Given the description of an element on the screen output the (x, y) to click on. 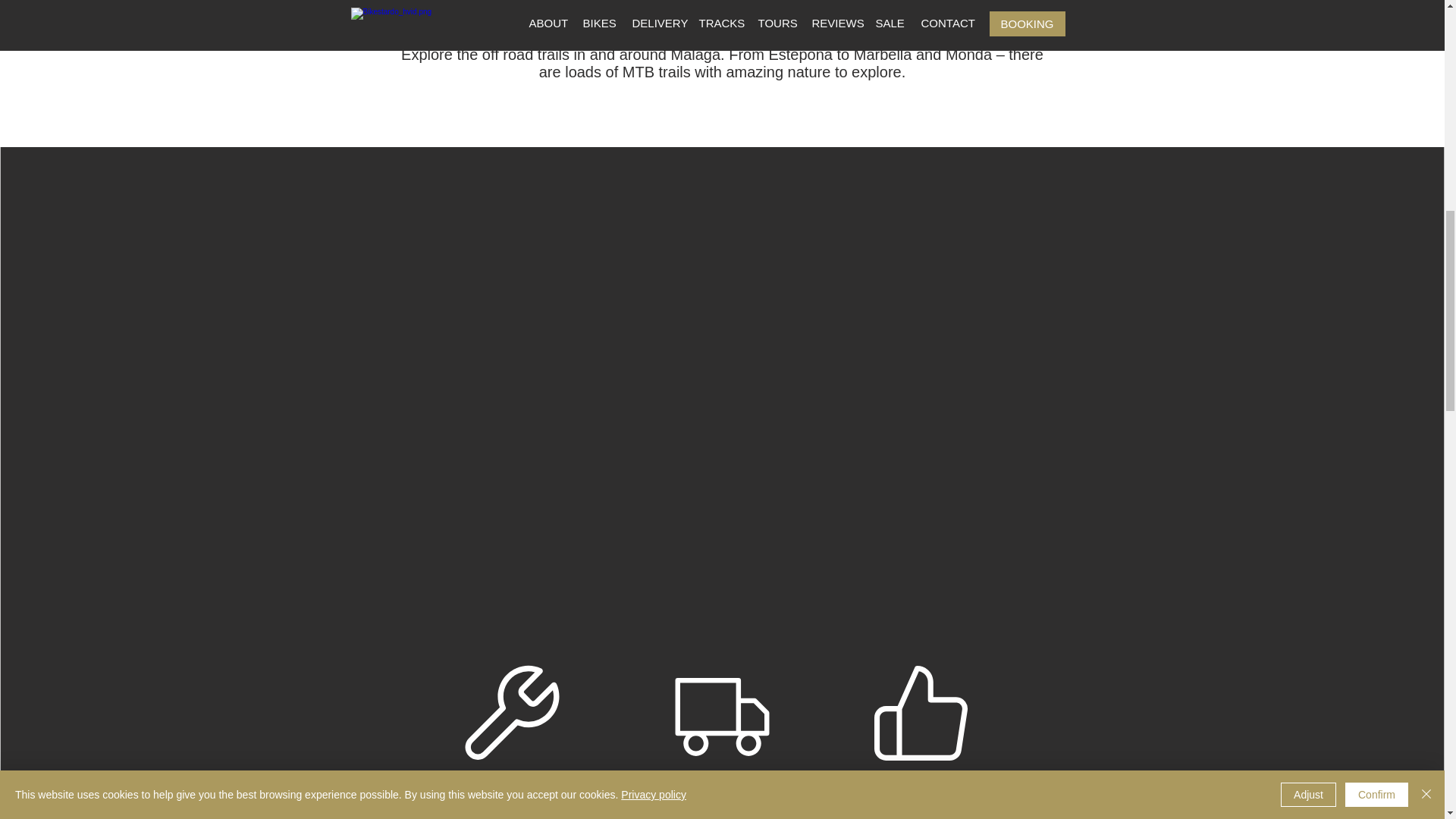
Marbella (882, 54)
